Given the description of an element on the screen output the (x, y) to click on. 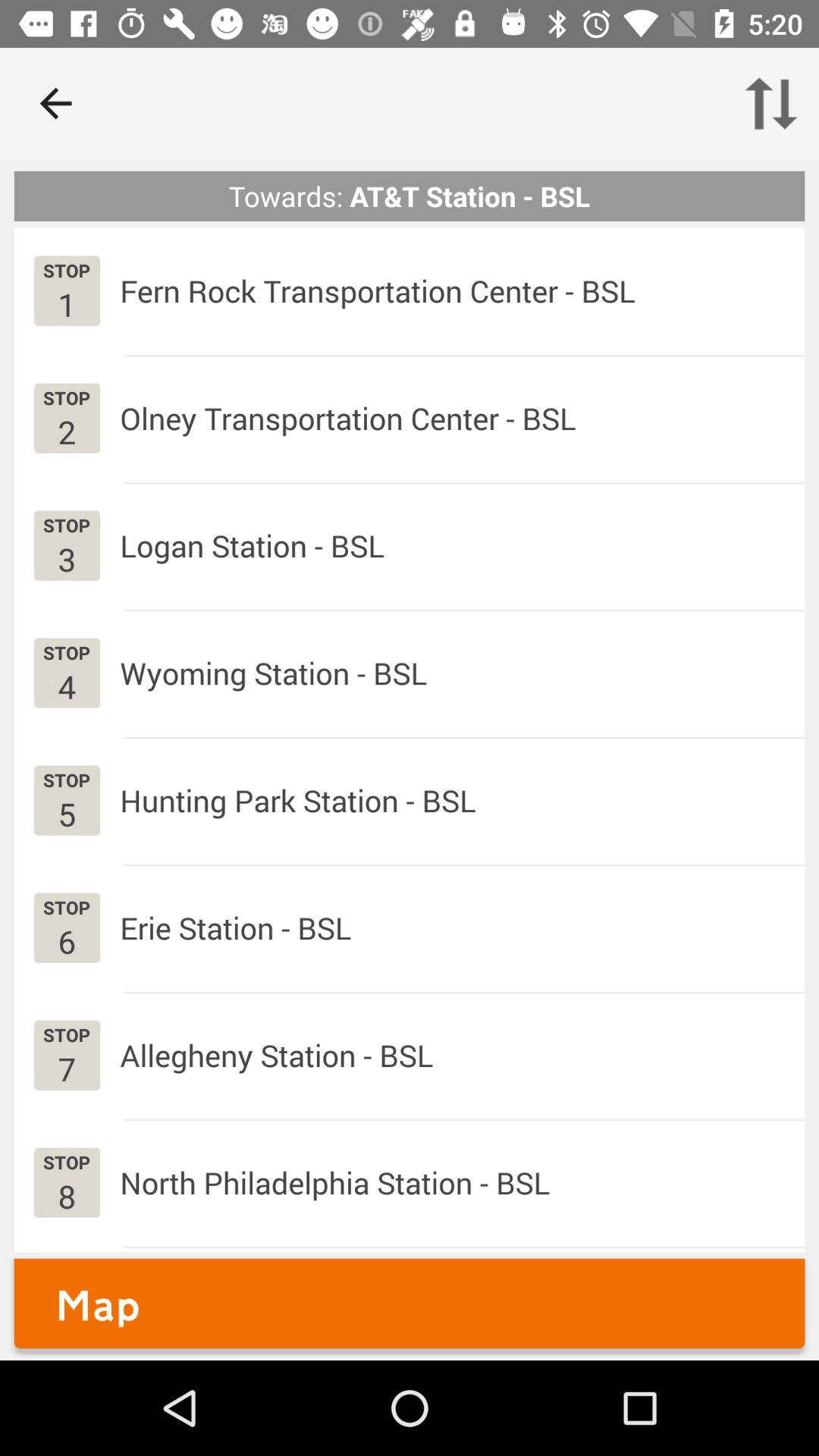
click the item next to allegheny station - bsl app (66, 1068)
